Given the description of an element on the screen output the (x, y) to click on. 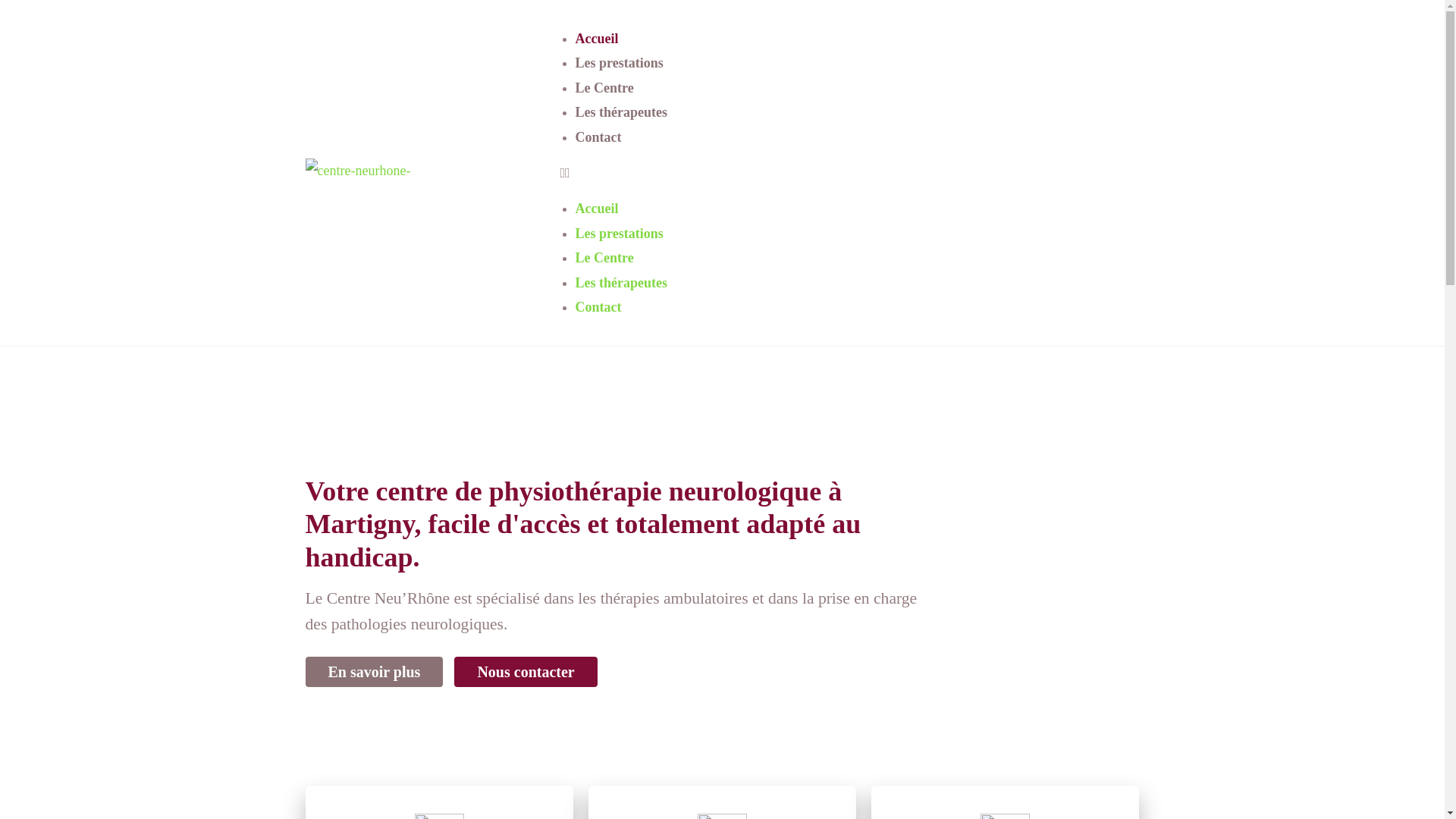
Contact Element type: text (597, 306)
Le Centre Element type: text (603, 257)
En savoir plus Element type: text (373, 671)
Les prestations Element type: text (618, 233)
Le Centre Element type: text (603, 87)
Nous contacter Element type: text (525, 671)
Accueil Element type: text (596, 38)
Les prestations Element type: text (618, 62)
Contact Element type: text (597, 136)
Accueil Element type: text (596, 208)
